Given the description of an element on the screen output the (x, y) to click on. 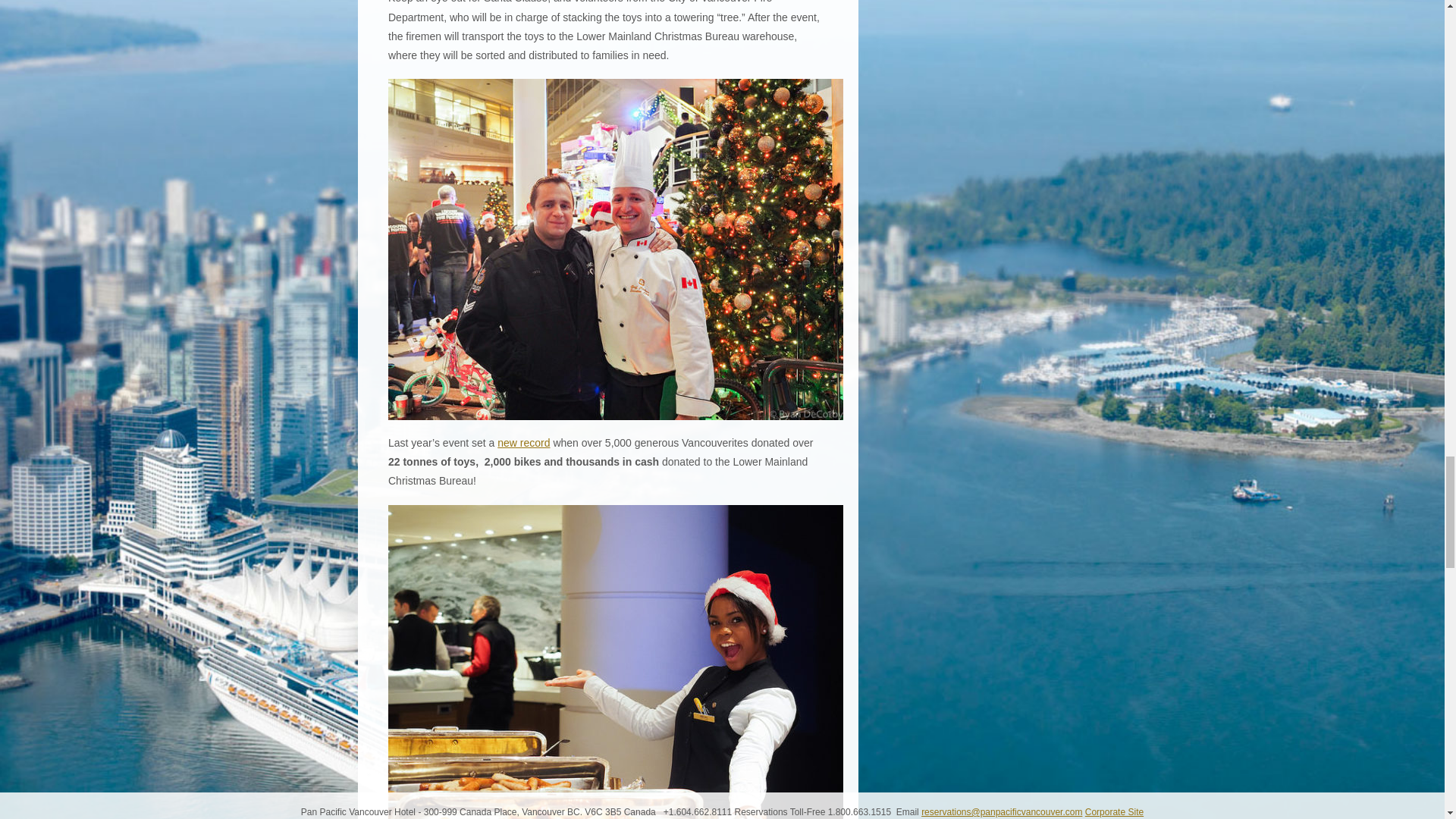
new record (523, 442)
